Given the description of an element on the screen output the (x, y) to click on. 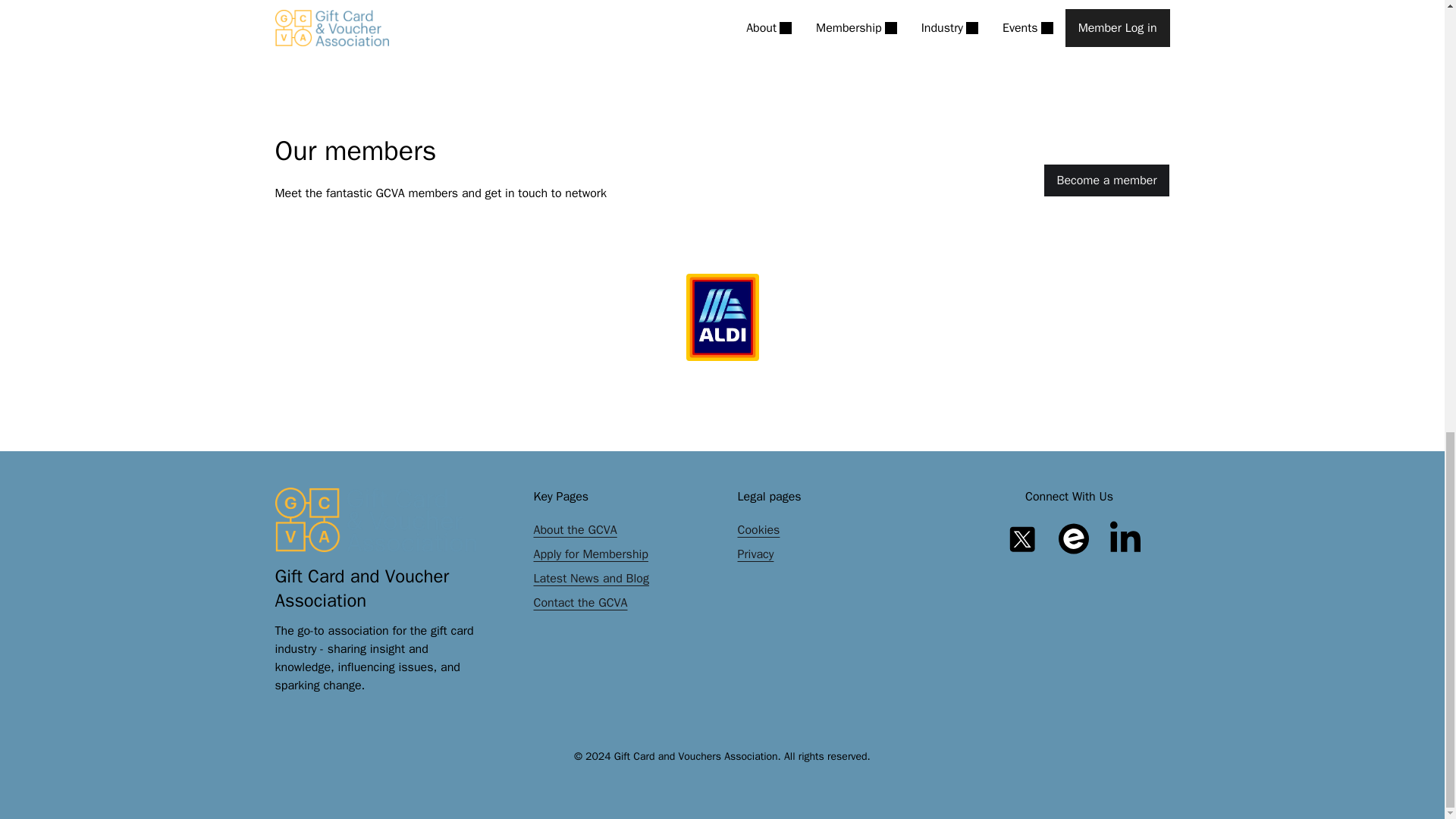
Become a member (1106, 180)
